Given the description of an element on the screen output the (x, y) to click on. 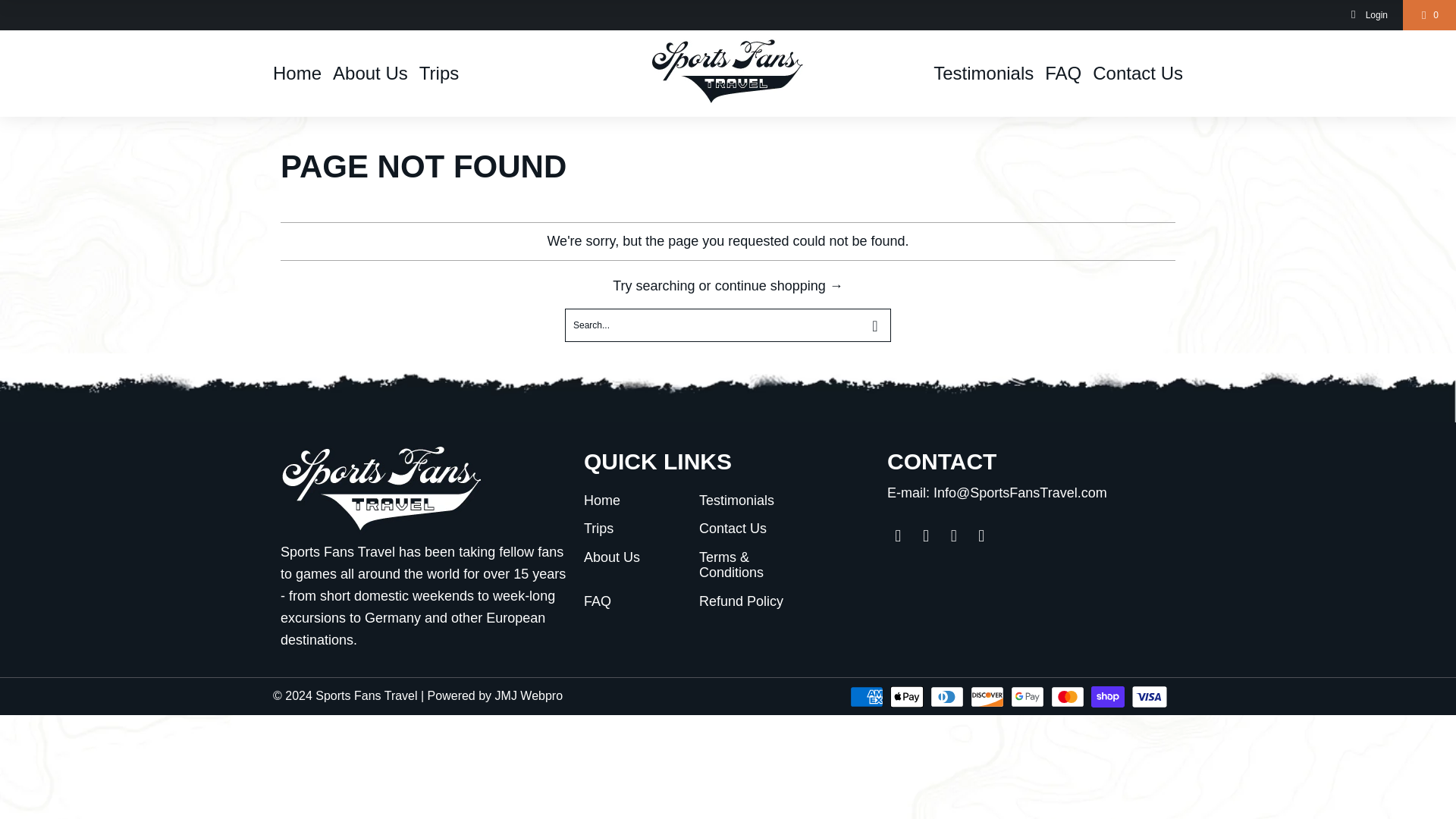
Diners Club (948, 696)
Sports Fans Travel on Twitter (898, 536)
Home (601, 500)
Apple Pay (907, 696)
Login (1368, 15)
Visa (1149, 696)
Google Pay (1028, 696)
Shop Pay (1108, 696)
About Us (370, 72)
Sports Fans Travel on Facebook (926, 536)
Mastercard (1069, 696)
Testimonials (736, 500)
Trips (438, 72)
FAQ (1063, 72)
Sports Fans Travel (728, 72)
